Given the description of an element on the screen output the (x, y) to click on. 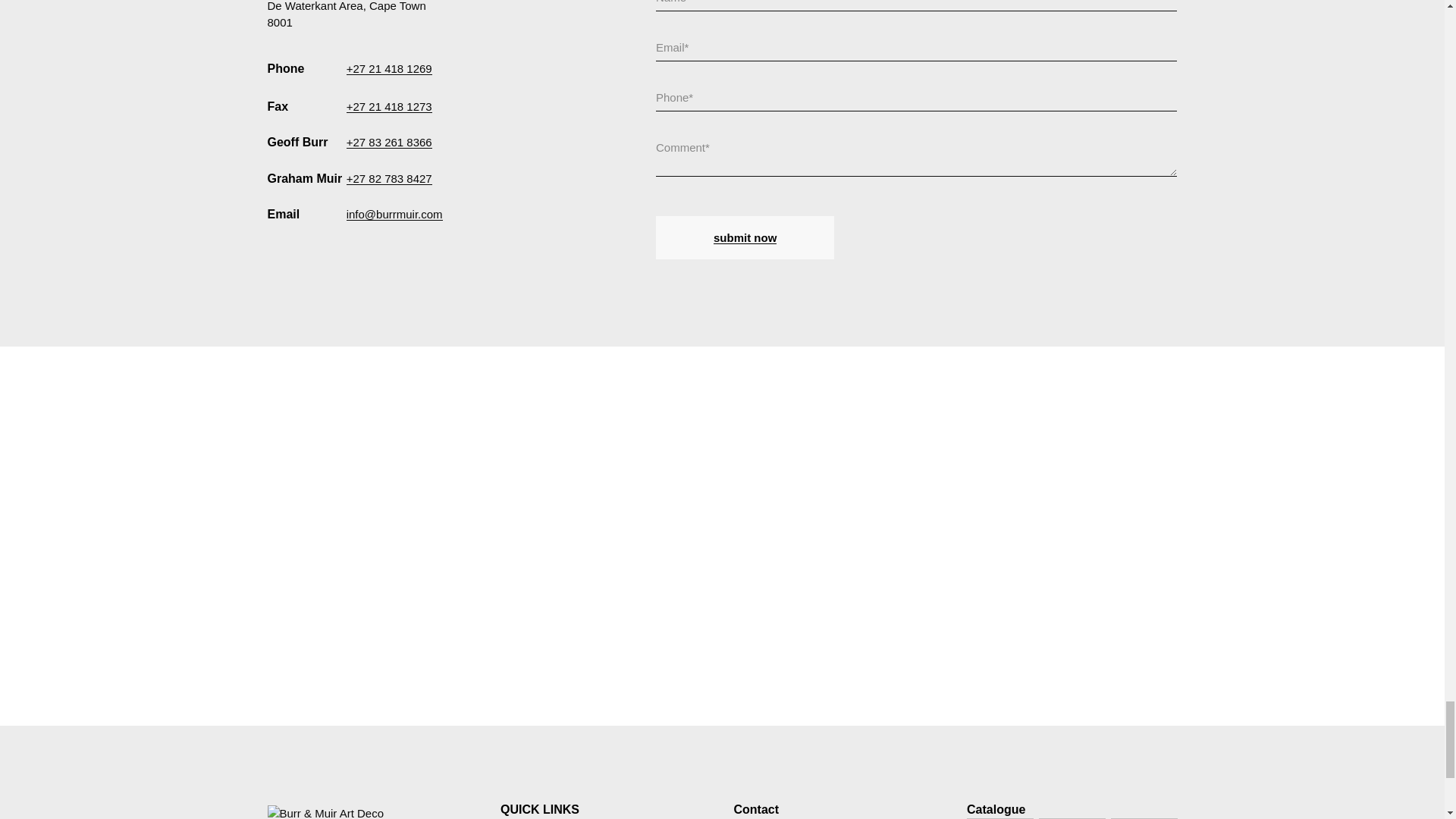
03-1 (1143, 818)
02-1 (1072, 818)
01-1 (999, 818)
